Given the description of an element on the screen output the (x, y) to click on. 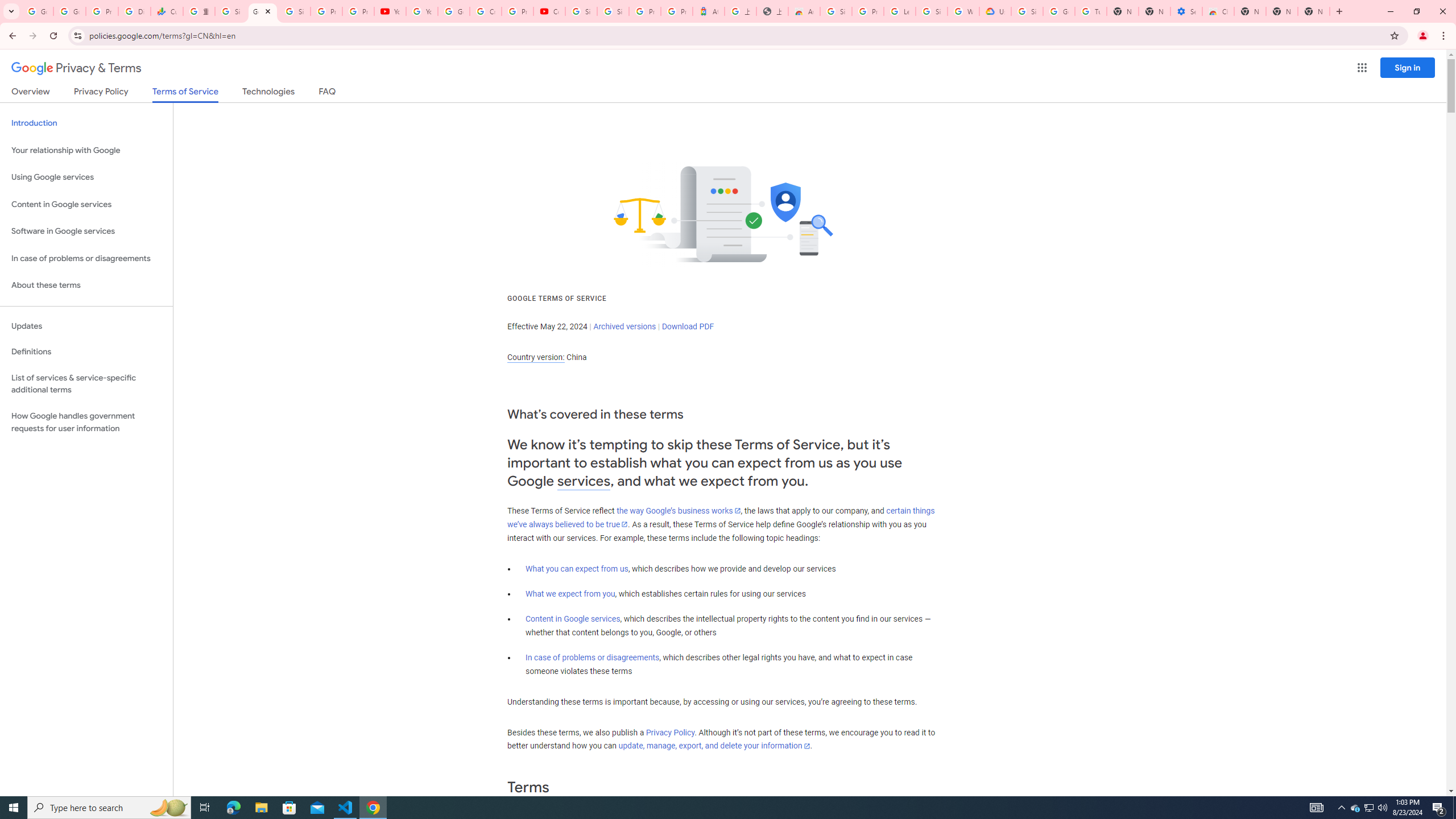
Google Account Help (453, 11)
Sign in - Google Accounts (230, 11)
Sign in - Google Accounts (613, 11)
Terms of Service (184, 94)
Settings - Accessibility (1185, 11)
Using Google services (86, 176)
Sign in - Google Accounts (836, 11)
Turn cookies on or off - Computer - Google Account Help (1091, 11)
How Google handles government requests for user information (86, 422)
Content Creator Programs & Opportunities - YouTube Creators (549, 11)
